Given the description of an element on the screen output the (x, y) to click on. 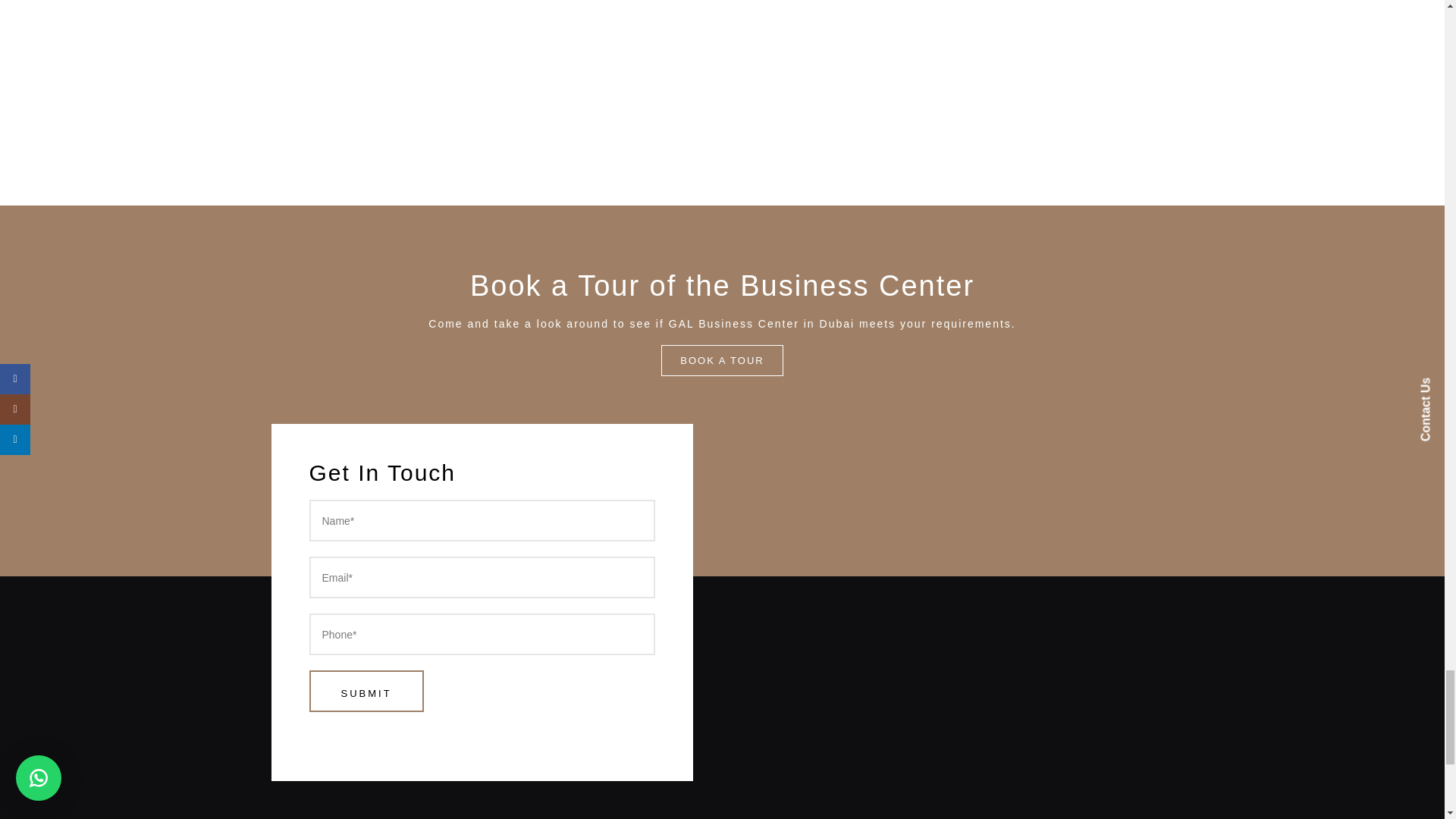
Submit (365, 690)
BOOK A TOUR (722, 359)
Submit (365, 690)
